Given the description of an element on the screen output the (x, y) to click on. 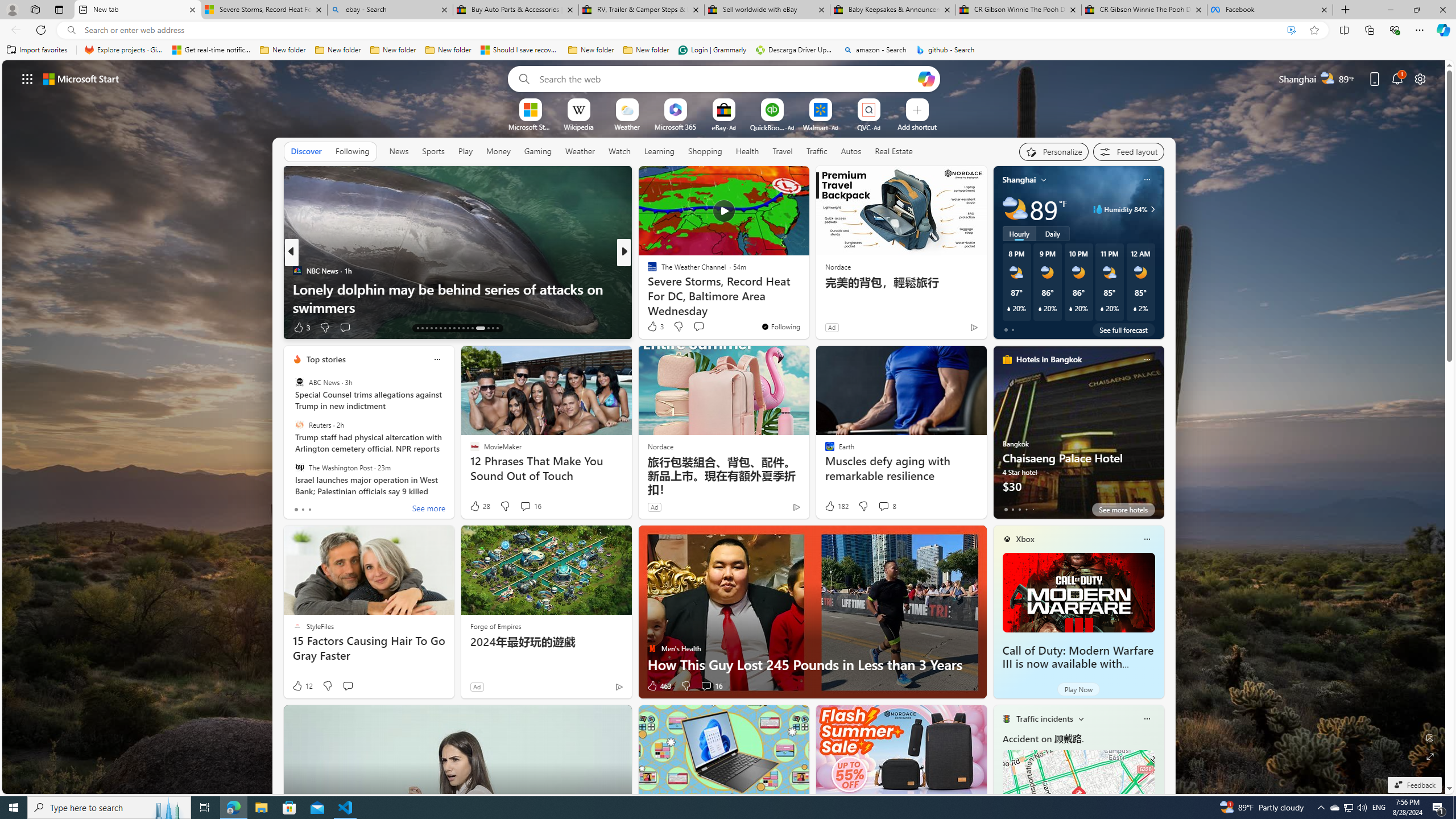
Page settings (1420, 78)
Health (746, 151)
See more hotels (1123, 509)
182 Like (835, 505)
28 Like (479, 505)
Import favorites (36, 49)
Play Now (1078, 689)
3 Like (655, 326)
Hourly (1018, 233)
